Given the description of an element on the screen output the (x, y) to click on. 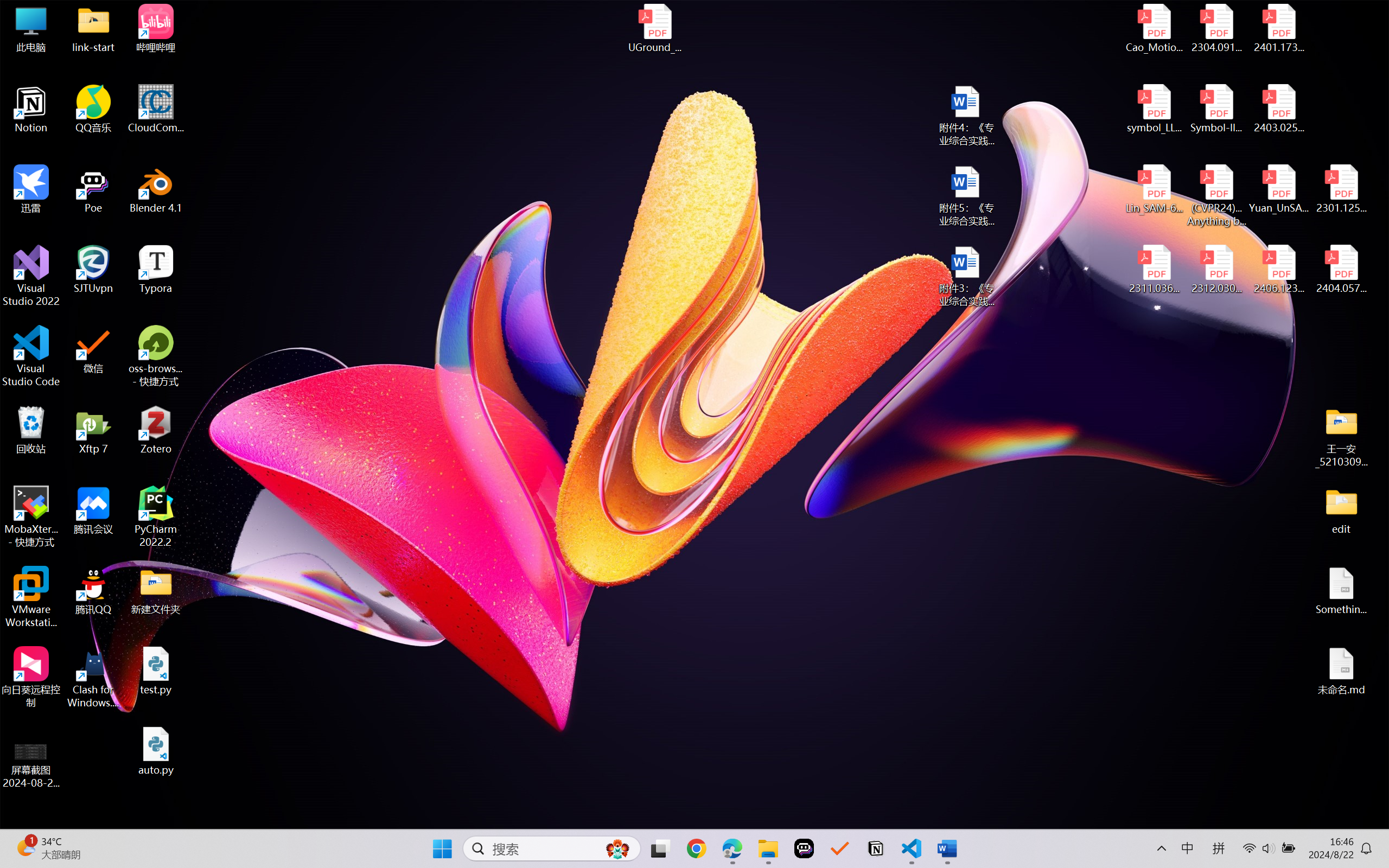
2304.09121v3.pdf (1216, 28)
